Given the description of an element on the screen output the (x, y) to click on. 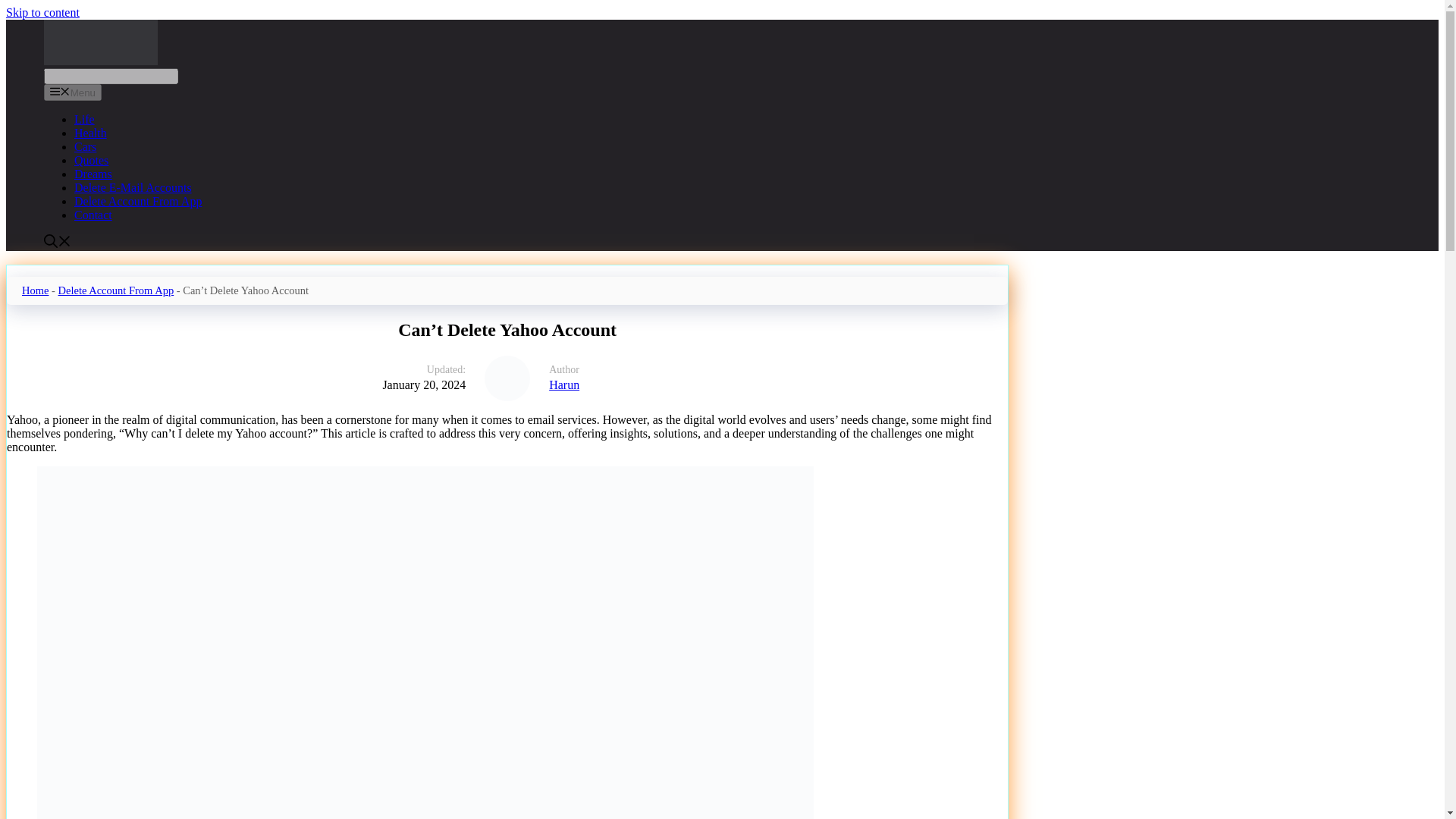
Home (34, 290)
Dreams (93, 173)
Contact (93, 214)
Life (84, 119)
Delete Account From App (116, 290)
BeingWrongBook.com (100, 42)
Delete E-Mail Accounts (133, 187)
Menu (72, 92)
Search (110, 75)
Cars (85, 146)
Skip to content (42, 11)
View all posts by Harun (768, 385)
Quotes (90, 160)
BeingWrongBook.com (100, 60)
Health (90, 132)
